Given the description of an element on the screen output the (x, y) to click on. 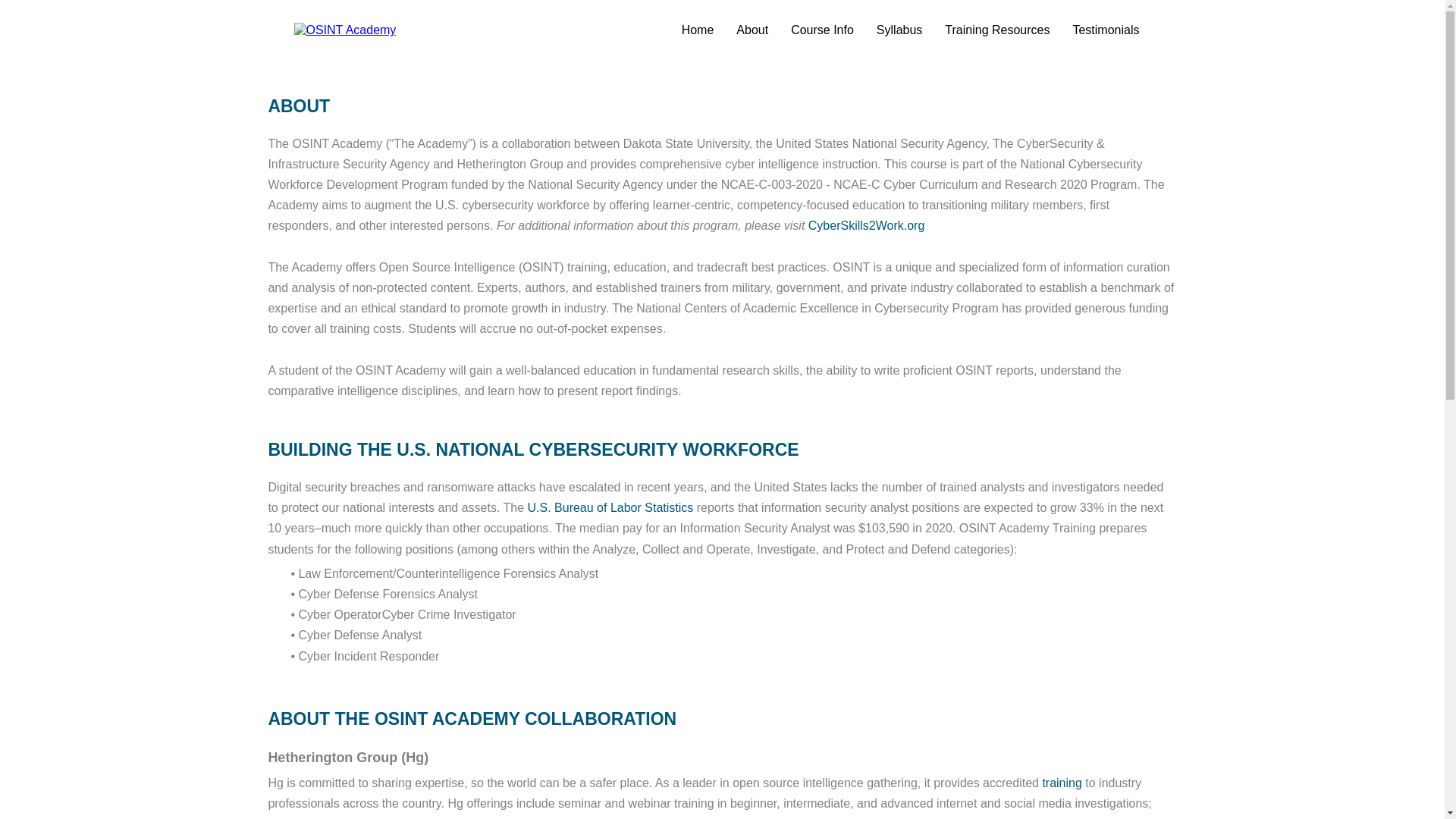
Course Info (821, 30)
CyberSkills2Work.org (866, 225)
About (751, 30)
training (1061, 782)
Syllabus (898, 30)
Training Resources (997, 30)
U.S. Bureau of Labor Statistics (610, 507)
Home (697, 30)
Testimonials (1105, 30)
